Given the description of an element on the screen output the (x, y) to click on. 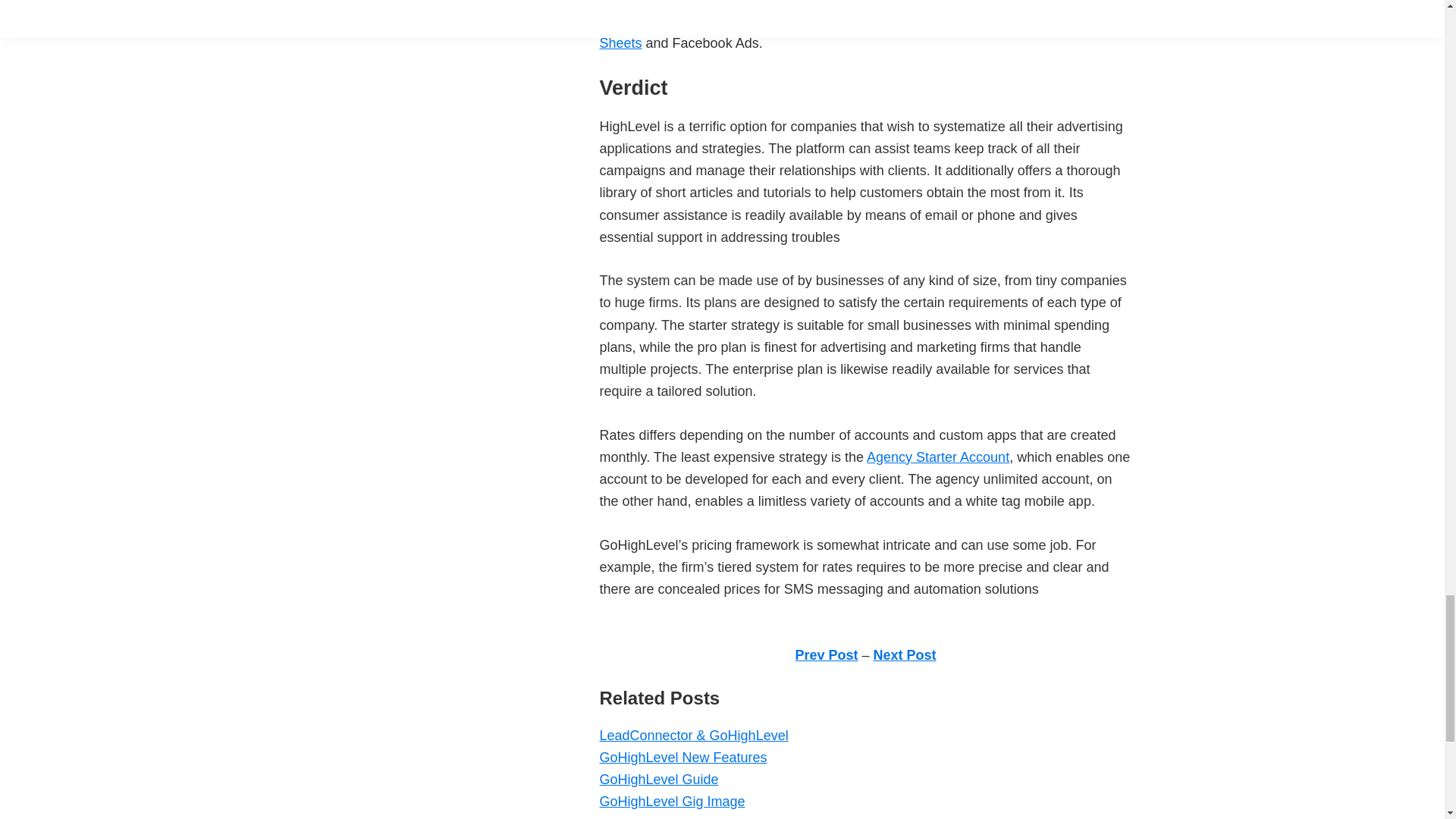
GoHighLevel Gig Image (671, 801)
GoHighLevel New Features (682, 757)
GoHighLevel Guide (657, 779)
Google Sheets (847, 31)
Prev Post (825, 654)
GoHighLevel CRM Tutorial (679, 817)
Next Post (904, 654)
GoHighLevel New Features (682, 757)
GoHighLevel CRM Tutorial (679, 817)
Agency Starter Account (937, 457)
GoHighLevel Guide (657, 779)
GoHighLevel Gig Image (671, 801)
